Given the description of an element on the screen output the (x, y) to click on. 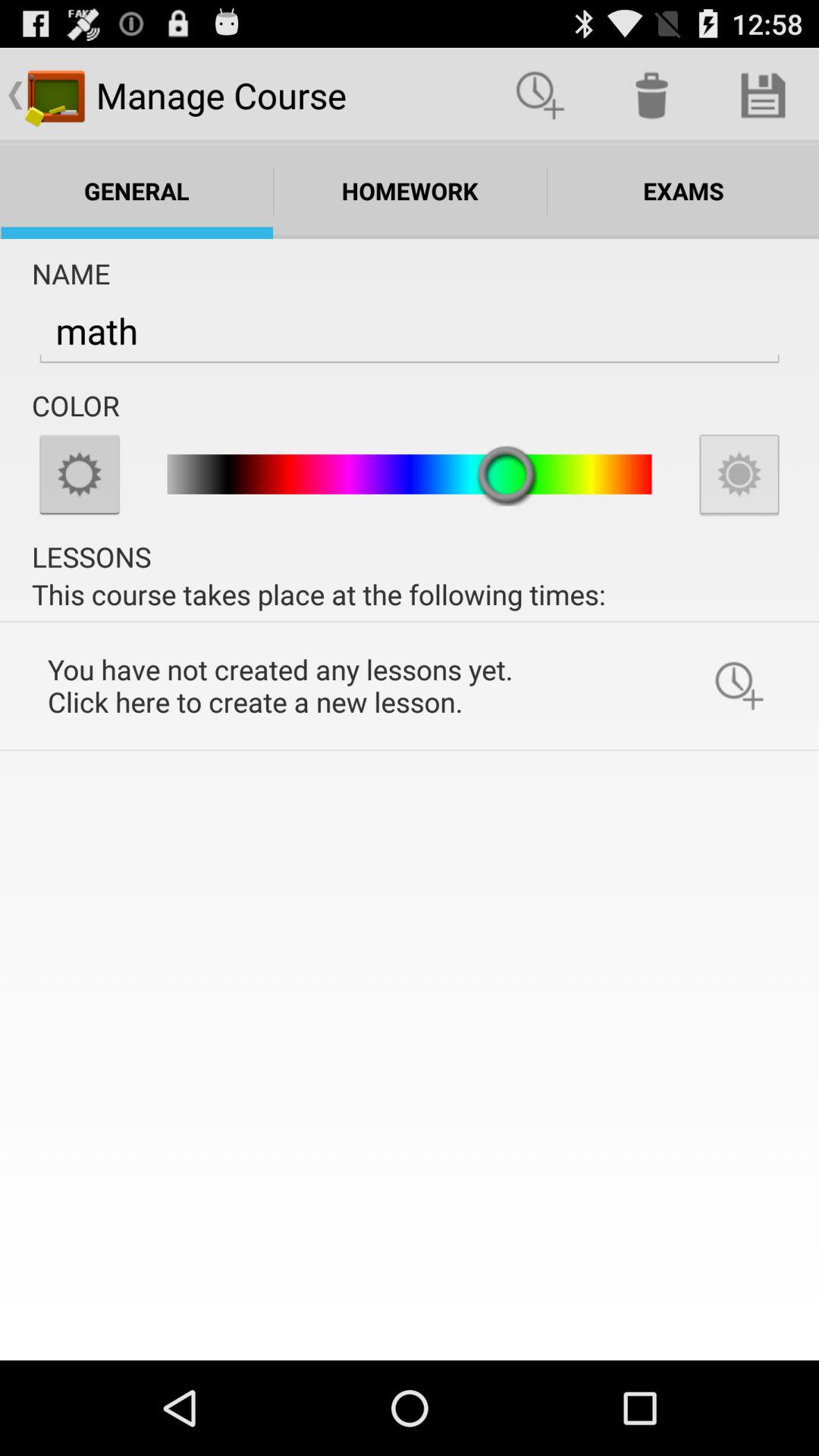
its a sun icon thats flashini yellow (79, 474)
